Given the description of an element on the screen output the (x, y) to click on. 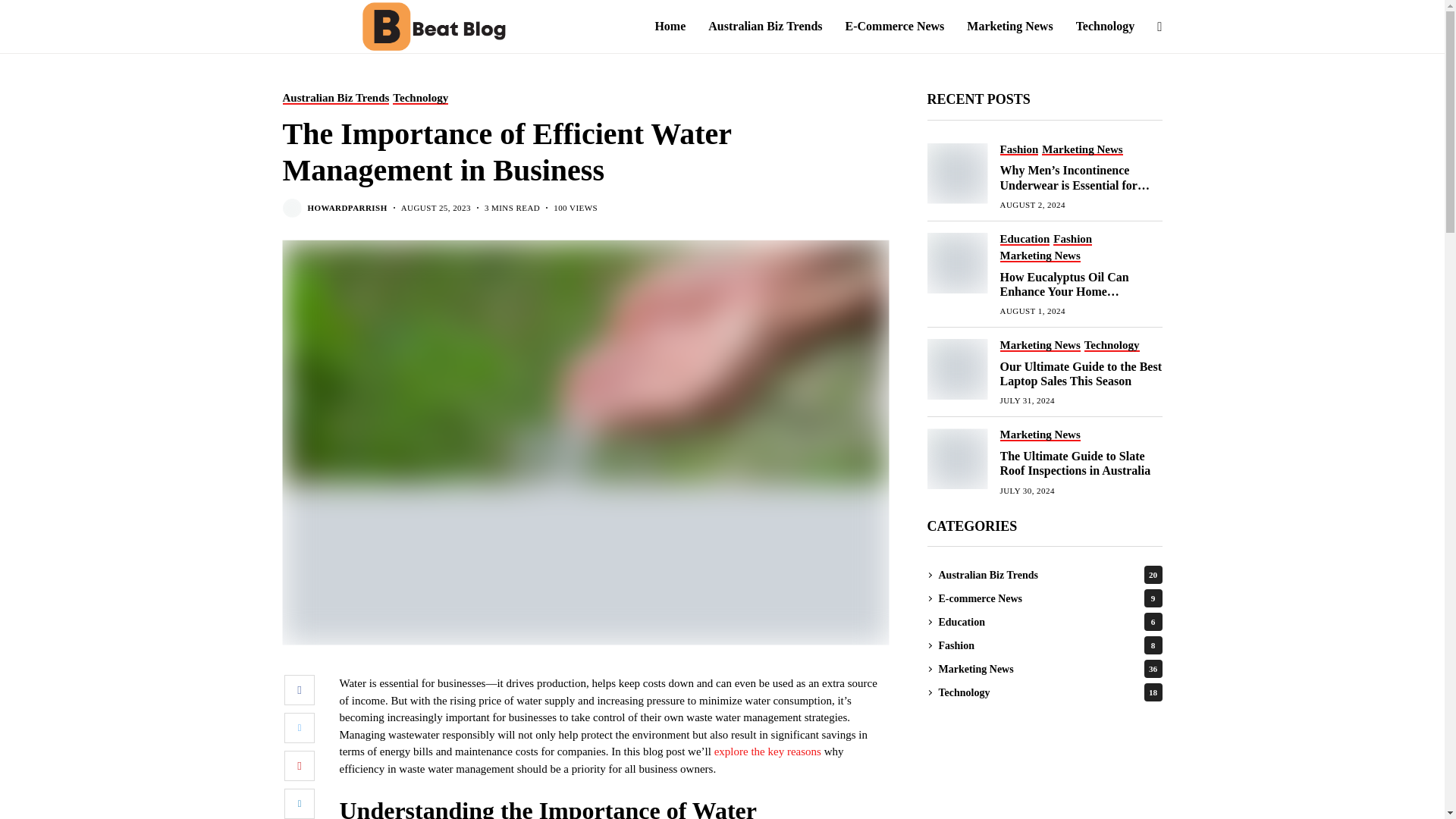
Technology (1105, 26)
Posts by HowardParrish (347, 207)
HOWARDPARRISH (347, 207)
Technology (420, 97)
E-Commerce News (894, 26)
Marketing News (1009, 26)
Australian Biz Trends (764, 26)
Australian Biz Trends (335, 97)
